Given the description of an element on the screen output the (x, y) to click on. 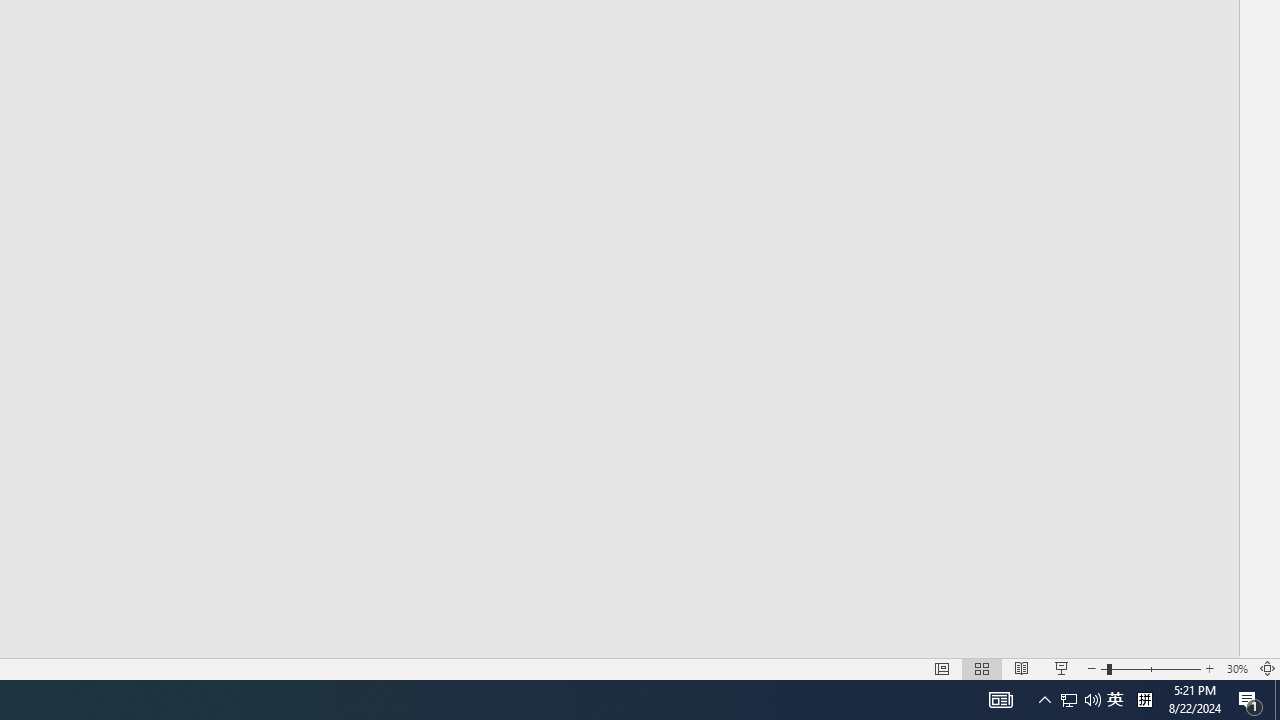
Zoom 30% (1236, 668)
